Given the description of an element on the screen output the (x, y) to click on. 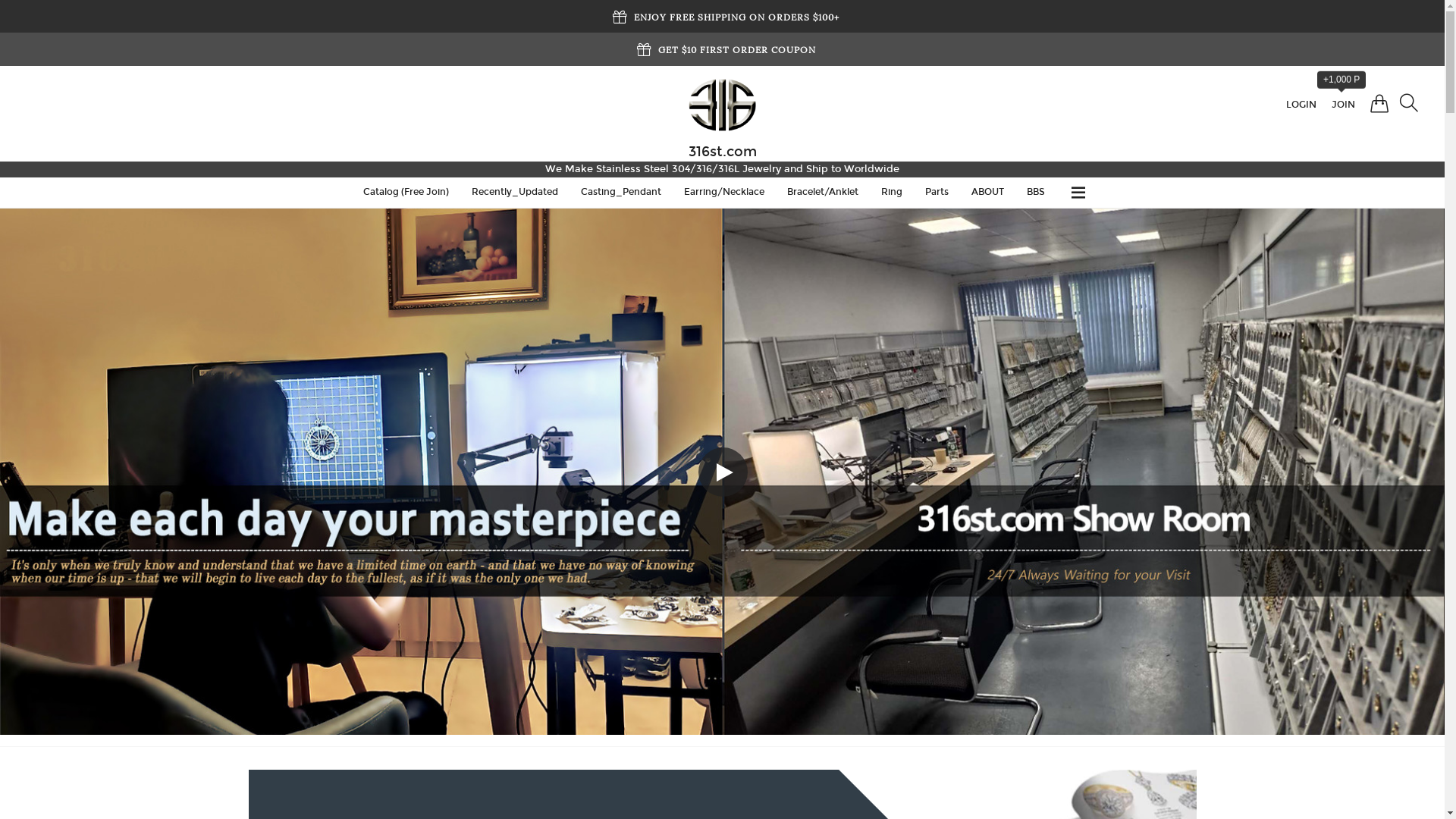
Casting_Pendant Element type: text (620, 192)
Ring Element type: text (891, 192)
Sign-in widget text Element type: text (1379, 104)
Bracelet/Anklet Element type: text (822, 192)
LOGIN Element type: text (1301, 104)
Earring/Necklace Element type: text (723, 192)
Catalog (Free Join) Element type: text (405, 192)
site search Element type: text (1408, 103)
Parts Element type: text (936, 192)
GET $10 FIRST ORDER COUPON Element type: text (736, 48)
316st.com Element type: text (722, 151)
Recently_Updated Element type: text (514, 192)
BBS Element type: text (1035, 192)
ABOUT Element type: text (987, 192)
Site logo Element type: text (722, 104)
JOIN Element type: text (1343, 104)
